Given the description of an element on the screen output the (x, y) to click on. 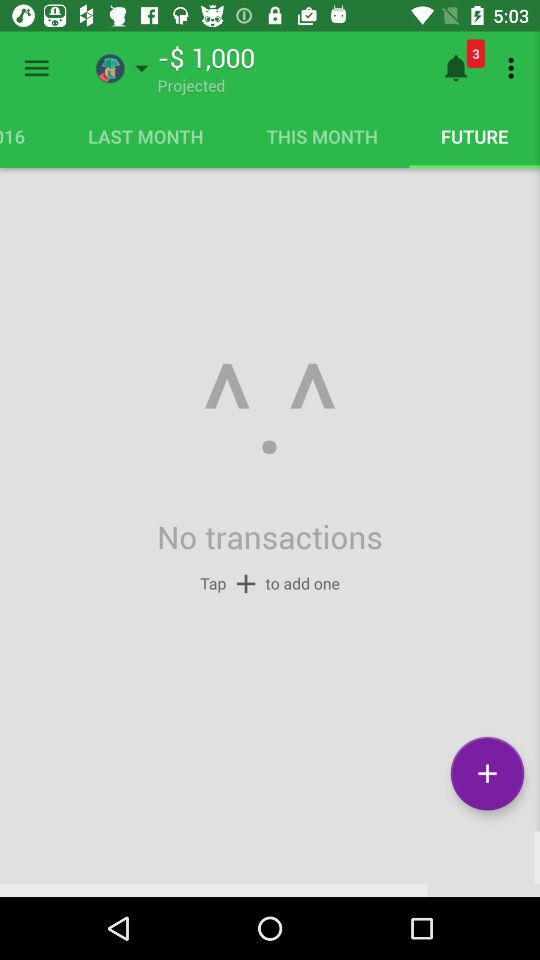
turn off the item above the 10/2016 icon (36, 68)
